Given the description of an element on the screen output the (x, y) to click on. 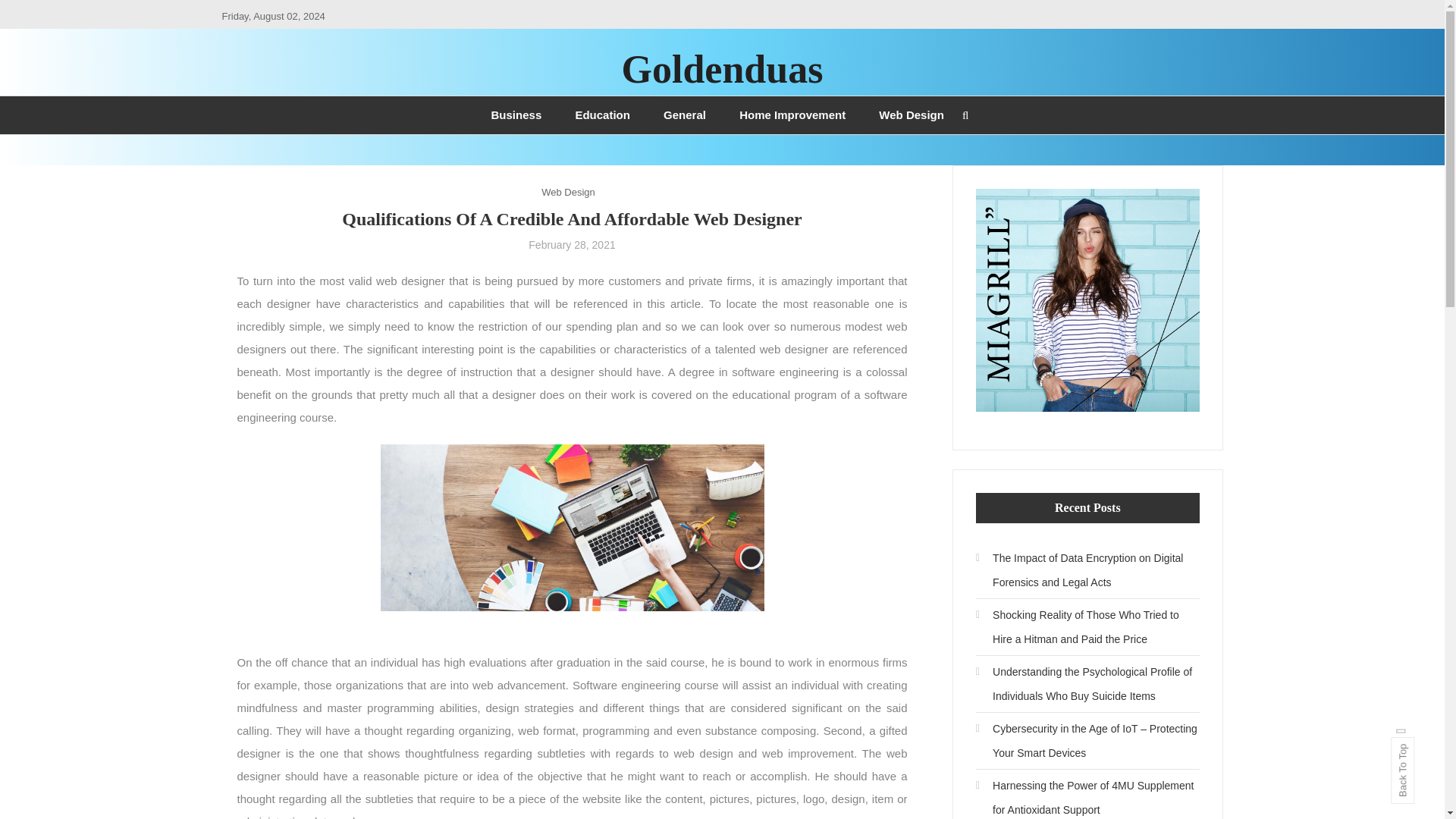
Goldenduas (722, 68)
Web Design (911, 115)
General (683, 115)
Business (516, 115)
Education (602, 115)
February 28, 2021 (571, 244)
Home Improvement (791, 115)
Web Design (568, 191)
Search (768, 432)
